Given the description of an element on the screen output the (x, y) to click on. 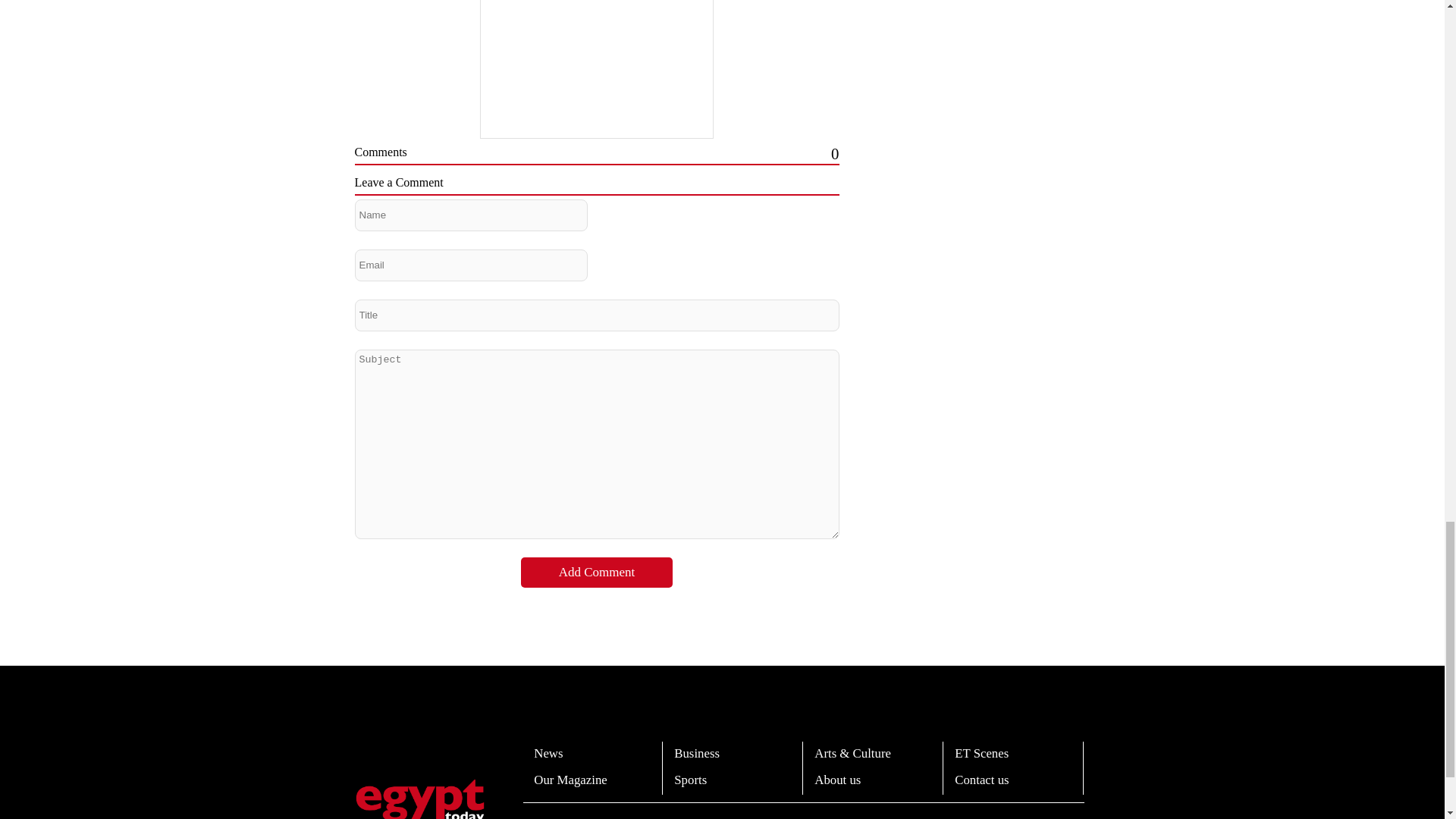
EgyptToday (419, 799)
